Given the description of an element on the screen output the (x, y) to click on. 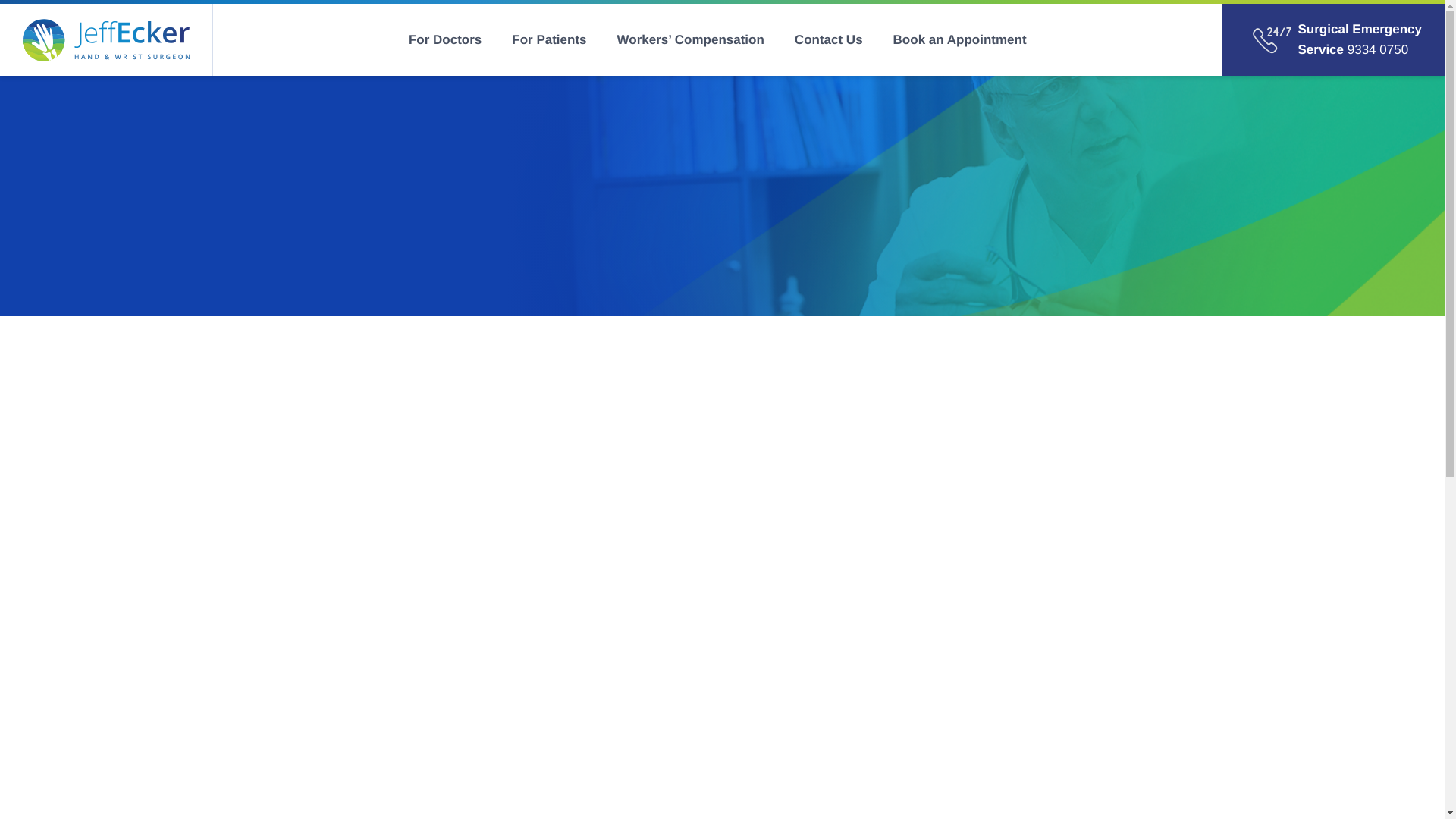
Contact Us Element type: text (828, 39)
Surgical Emergency
Service 9334 0750 Element type: text (1333, 39)
For Doctors Element type: text (444, 39)
Book an Appointment Element type: text (959, 39)
For Patients Element type: text (548, 39)
